Given the description of an element on the screen output the (x, y) to click on. 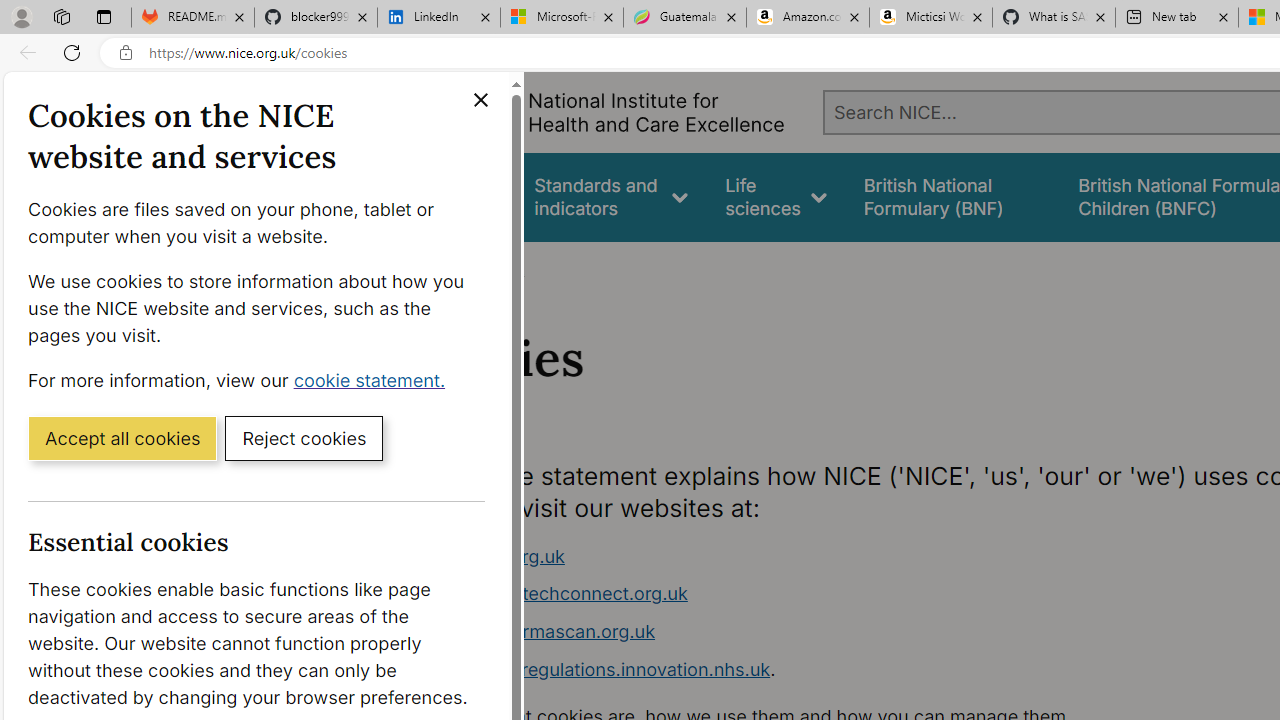
www.ukpharmascan.org.uk (538, 631)
www.healthtechconnect.org.uk (796, 594)
www.nice.org.uk (796, 556)
Accept all cookies (122, 437)
www.digitalregulations.innovation.nhs.uk (595, 668)
